Given the description of an element on the screen output the (x, y) to click on. 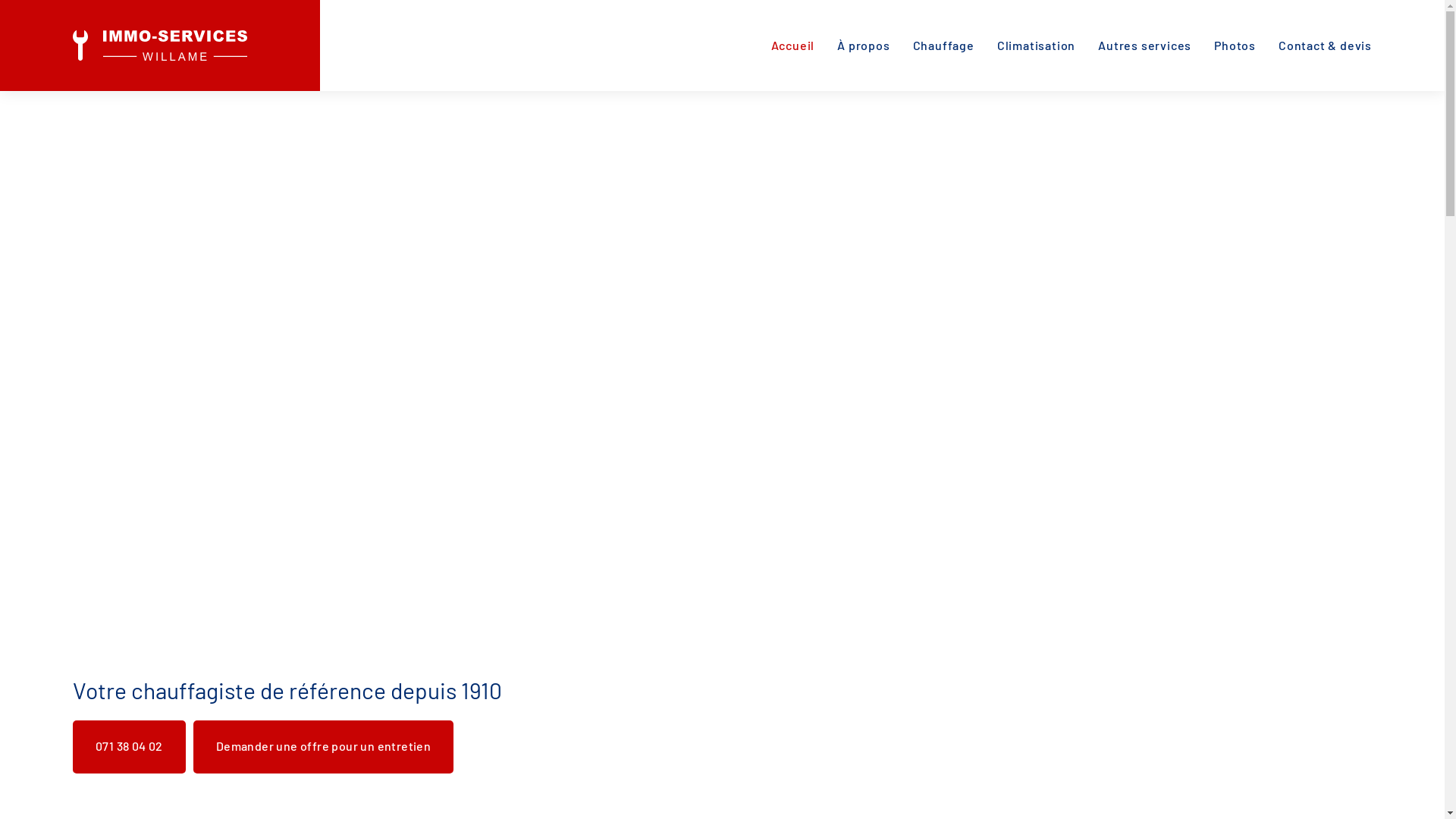
Chauffage Element type: text (943, 45)
Immo-Services Willame Element type: hover (160, 45)
071 38 04 02 Element type: text (128, 746)
Demander une offre pour un entretien Element type: text (323, 746)
Autres services Element type: text (1144, 45)
Climatisation Element type: text (1036, 45)
Contact & devis Element type: text (1324, 45)
Accueil Element type: text (793, 45)
Photos Element type: text (1234, 45)
